Given the description of an element on the screen output the (x, y) to click on. 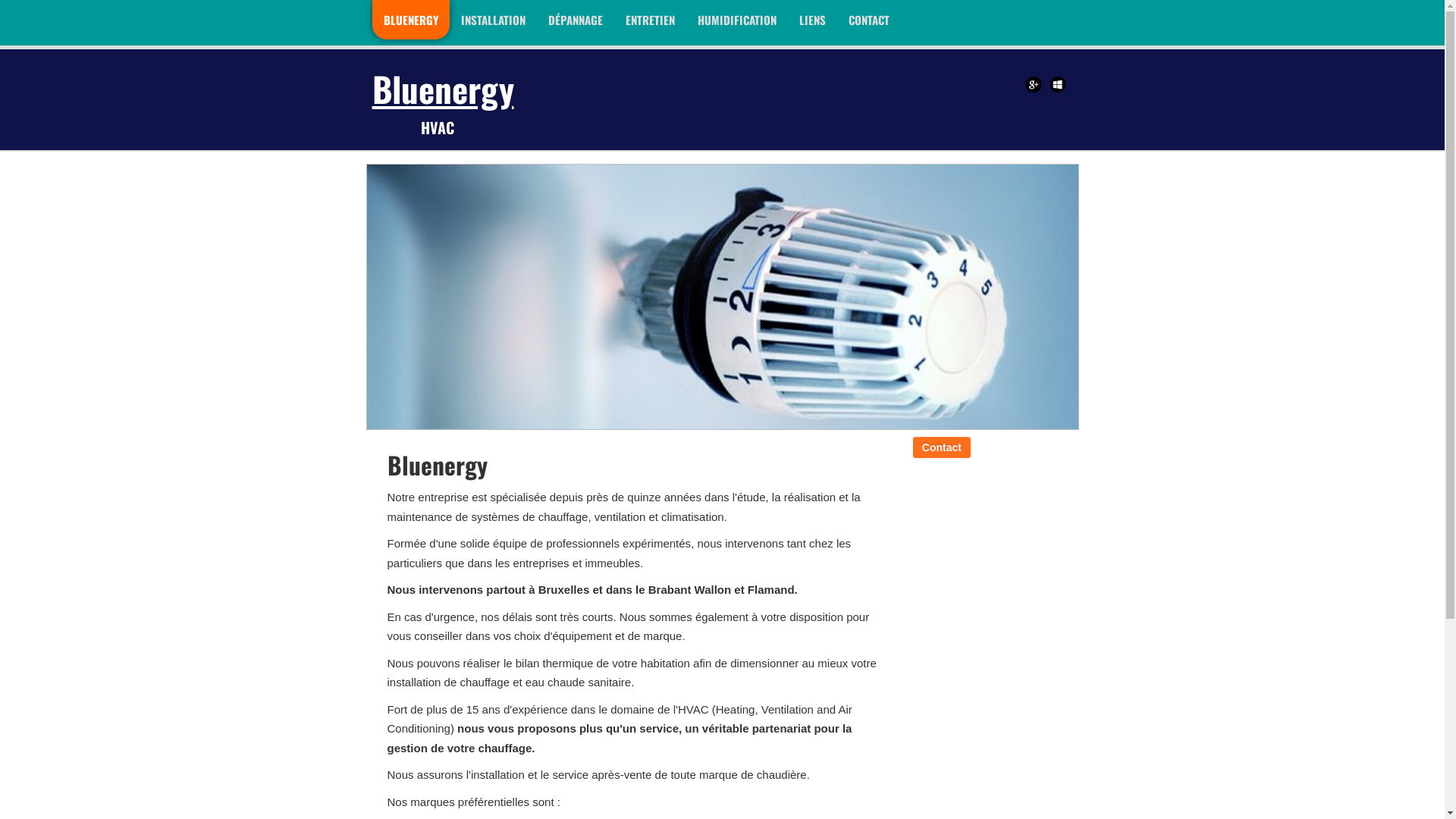
ENTRETIEN Element type: text (650, 19)
BLUENERGY Element type: text (409, 19)
INSTALLATION Element type: text (492, 19)
Bluenergy
HVAC Element type: text (447, 97)
LIENS Element type: text (811, 19)
HUMIDIFICATION Element type: text (736, 19)
Contact Element type: text (941, 447)
CONTACT Element type: text (868, 19)
